Given the description of an element on the screen output the (x, y) to click on. 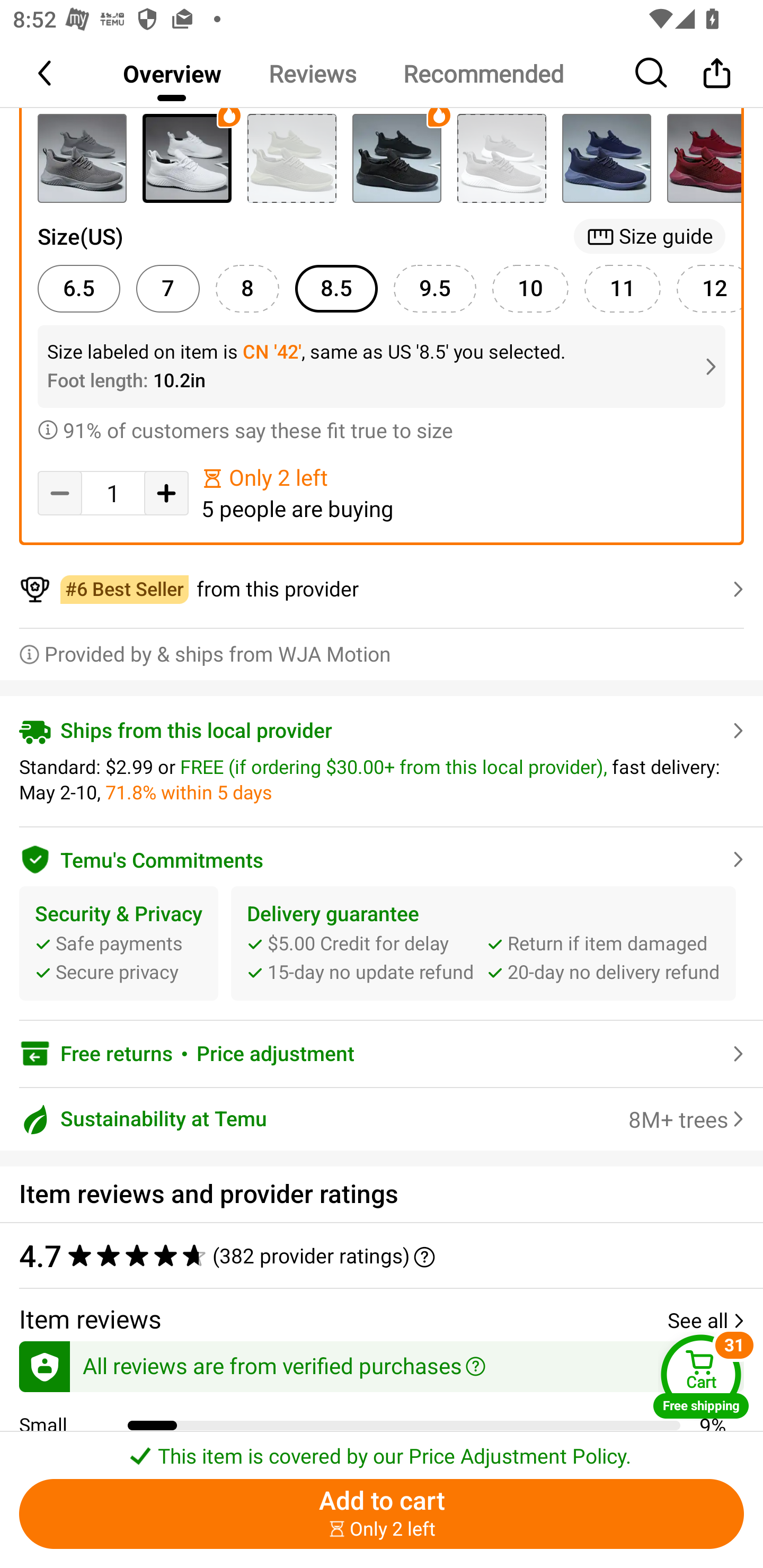
Overview (171, 72)
Reviews (311, 72)
Recommended (482, 72)
Back (46, 72)
Share (716, 72)
grey (81, 158)
White (186, 158)
Army Green (291, 158)
Full Black (396, 158)
Gray White (501, 158)
Dark Blue (606, 158)
Burgundy (703, 158)
 Size guide (649, 236)
6.5 (78, 288)
7 (167, 288)
8 (247, 288)
8.5 (336, 288)
9.5 (434, 288)
10 (530, 288)
11 (622, 288)
12 (708, 288)
  91% of customers say these fit true to size (381, 429)
Decrease Quantity Button (59, 492)
Add Quantity button (166, 492)
1 (113, 493)
￼￼from this provider (381, 589)
Temu's Commitments (381, 856)
Security & Privacy Safe payments Secure privacy (118, 942)
Free returns￼Price adjustment (381, 1053)
Sustainability at Temu 8M+ trees (381, 1119)
4.7 ‪(382 provider ratings) (371, 1255)
Cart Free shipping Cart (701, 1375)
Add to cart ￼￼Only 2 left (381, 1513)
